Given the description of an element on the screen output the (x, y) to click on. 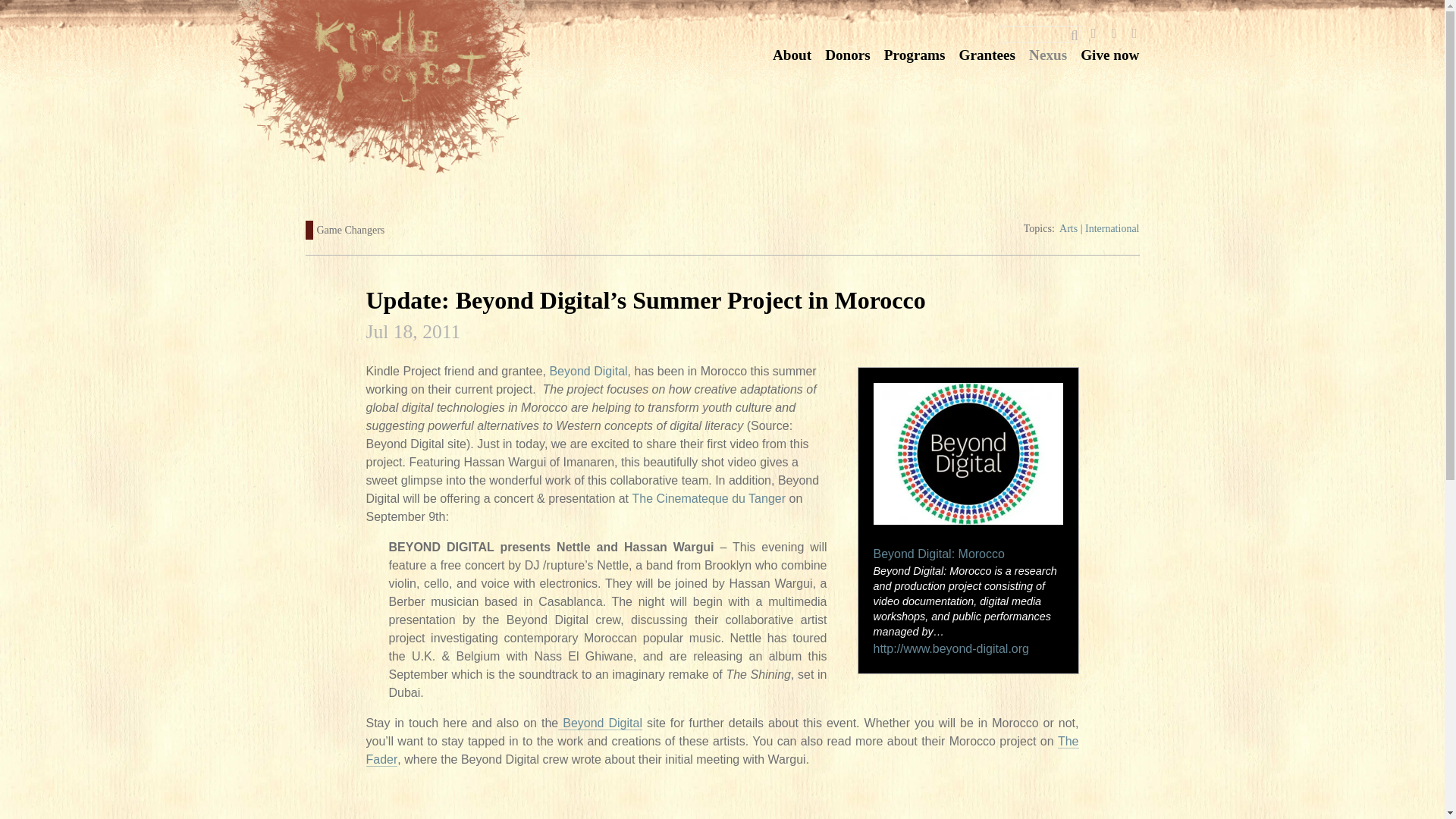
Grantees (986, 55)
Give now (1109, 55)
Beyond Digital (599, 723)
Nexus (1048, 55)
International (1112, 228)
Programs (913, 55)
Kindle Project (436, 87)
Donors (847, 55)
Game Changers (351, 229)
About (791, 55)
